Given the description of an element on the screen output the (x, y) to click on. 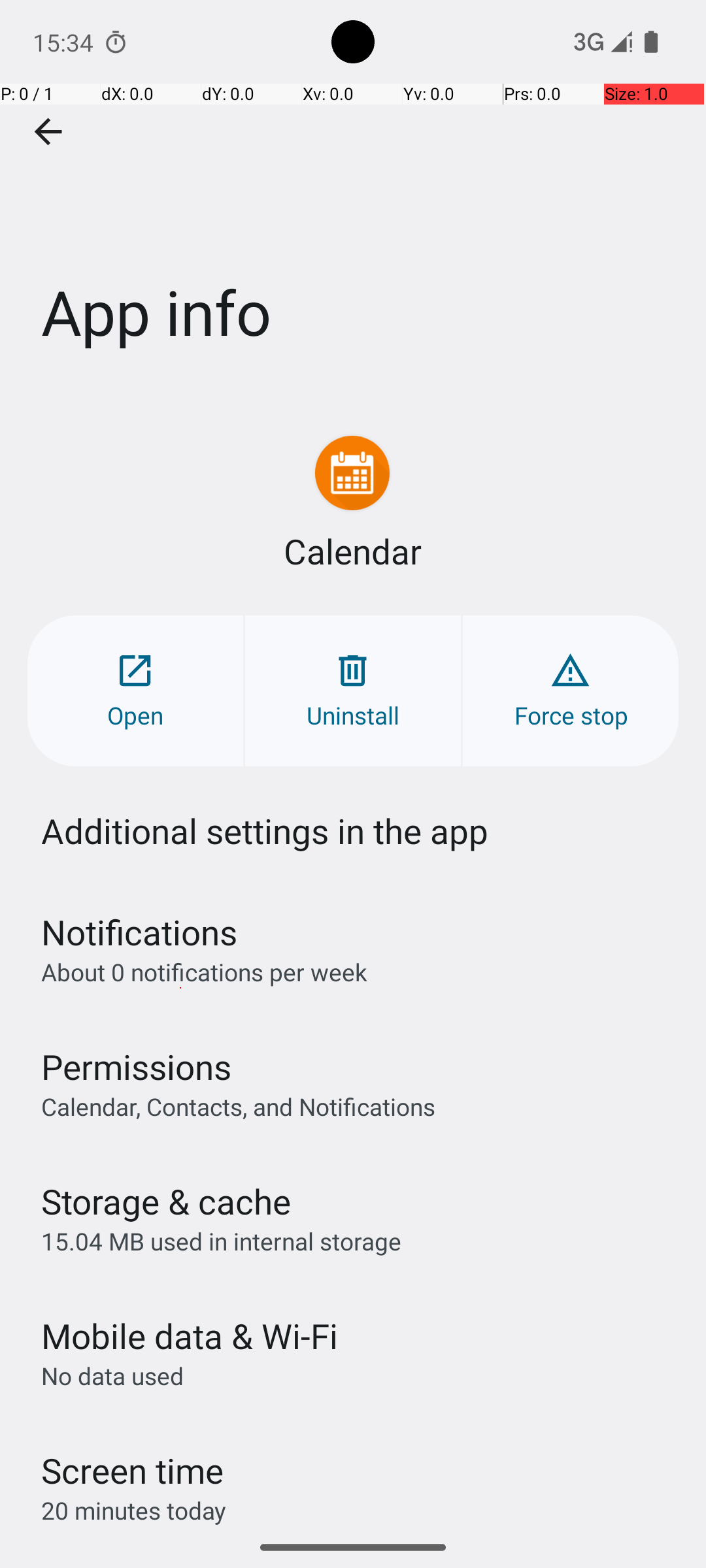
Additional settings in the app Element type: android.widget.TextView (264, 830)
Calendar, Contacts, and Notifications Element type: android.widget.TextView (238, 1106)
15.04 MB used in internal storage Element type: android.widget.TextView (221, 1240)
20 minutes today Element type: android.widget.TextView (133, 1509)
